Given the description of an element on the screen output the (x, y) to click on. 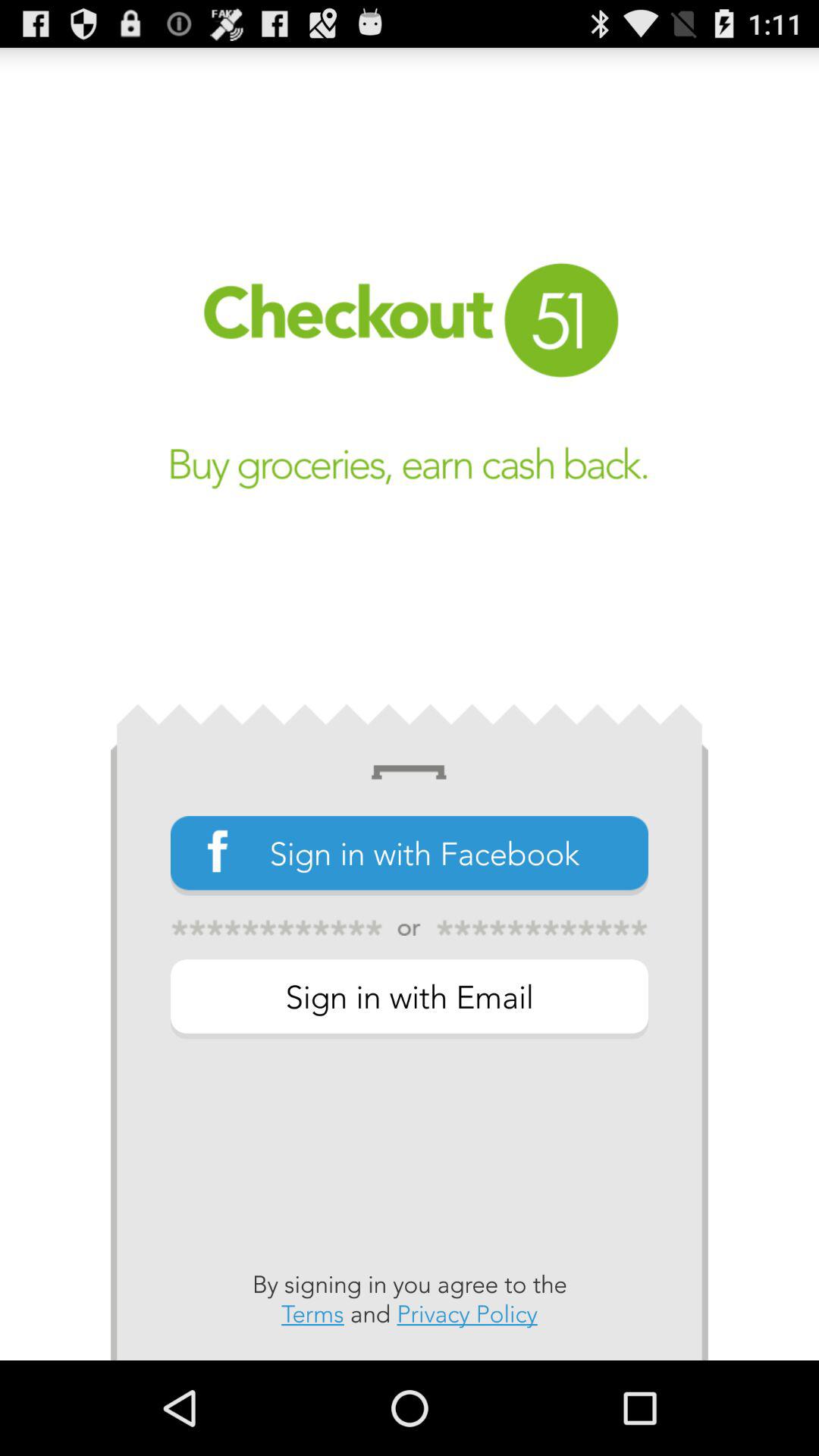
turn on the button below the sign in with (409, 1299)
